Given the description of an element on the screen output the (x, y) to click on. 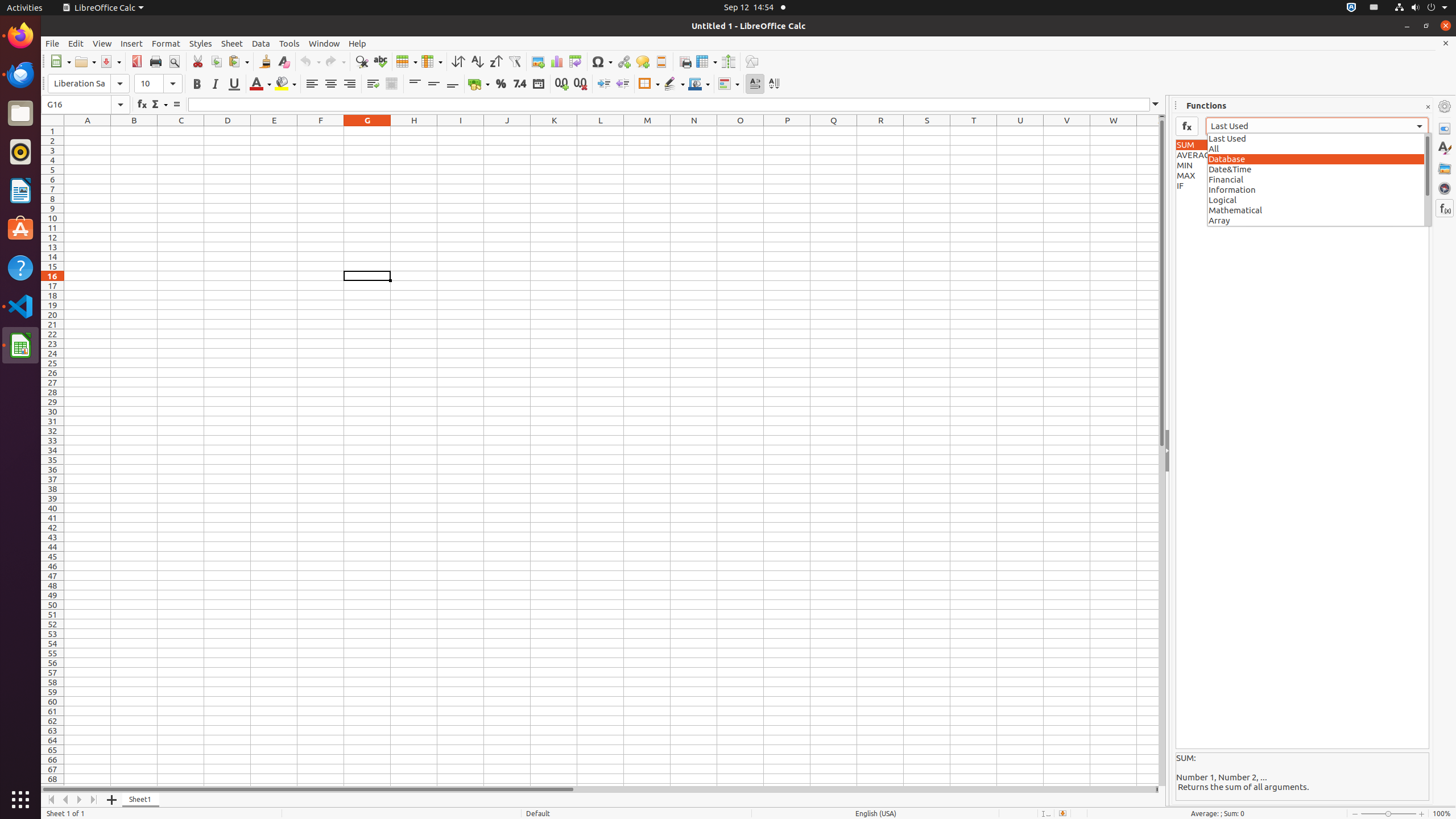
Sort Ascending Element type: push-button (476, 61)
Open Element type: push-button (84, 61)
Text direction from left to right Element type: toggle-button (754, 83)
M1 Element type: table-cell (646, 130)
